Given the description of an element on the screen output the (x, y) to click on. 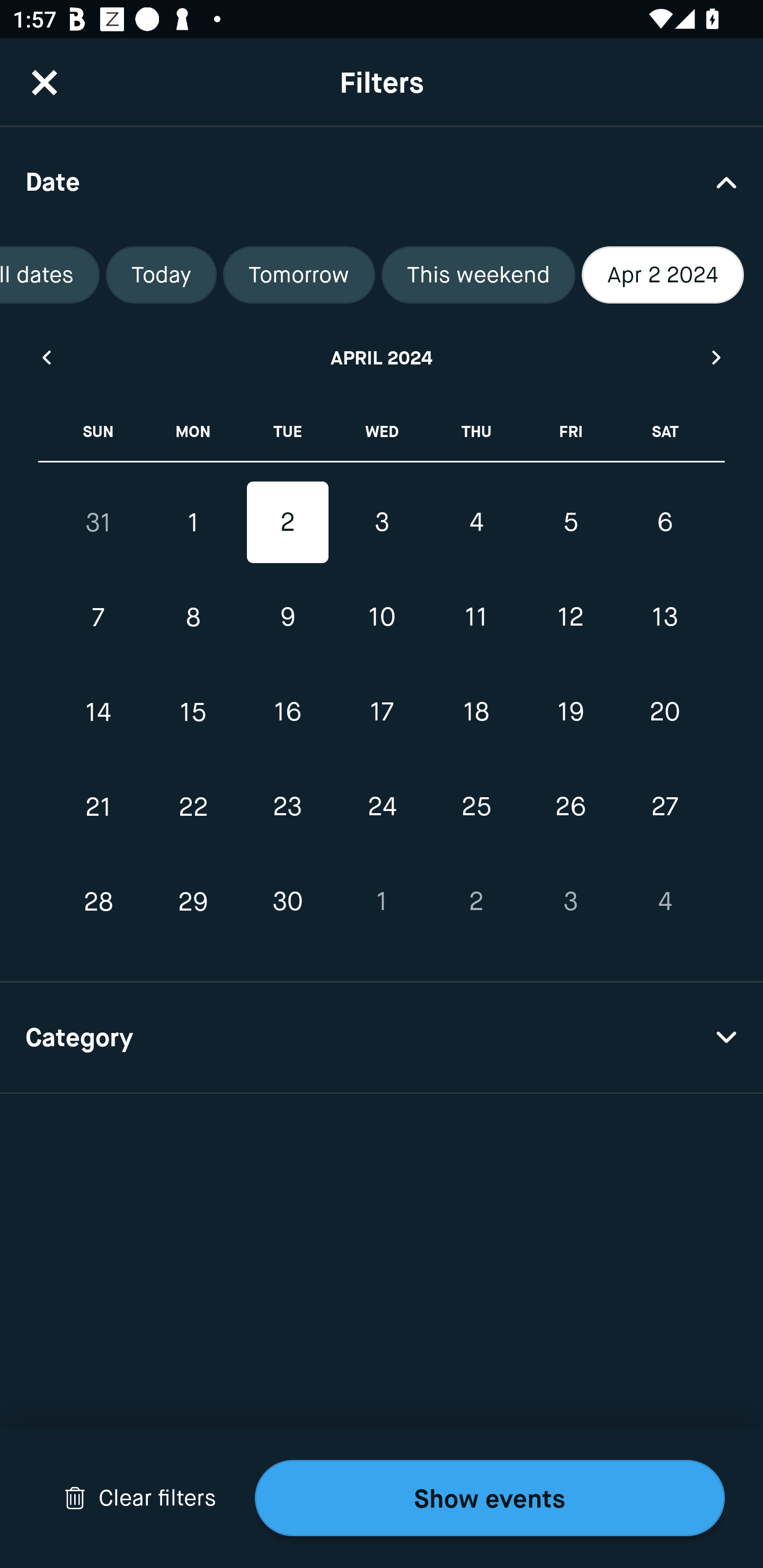
CloseButton (44, 82)
Date Drop Down Arrow (381, 181)
Today (161, 274)
Tomorrow (298, 274)
This weekend (478, 274)
Apr 2 2024 (662, 274)
Previous (45, 357)
Next (717, 357)
31 (98, 522)
1 (192, 522)
2 (287, 522)
3 (381, 522)
4 (475, 522)
5 (570, 522)
6 (664, 522)
7 (98, 617)
8 (192, 617)
9 (287, 617)
10 (381, 617)
11 (475, 617)
12 (570, 617)
13 (664, 617)
14 (98, 711)
15 (192, 711)
16 (287, 711)
17 (381, 711)
18 (475, 711)
19 (570, 711)
20 (664, 711)
21 (98, 806)
22 (192, 806)
23 (287, 806)
24 (381, 806)
25 (475, 806)
26 (570, 806)
27 (664, 806)
28 (98, 901)
29 (192, 901)
30 (287, 901)
1 (381, 901)
2 (475, 901)
3 (570, 901)
4 (664, 901)
Category Drop Down Arrow (381, 1038)
Drop Down Arrow Clear filters (139, 1497)
Show events (489, 1497)
